Given the description of an element on the screen output the (x, y) to click on. 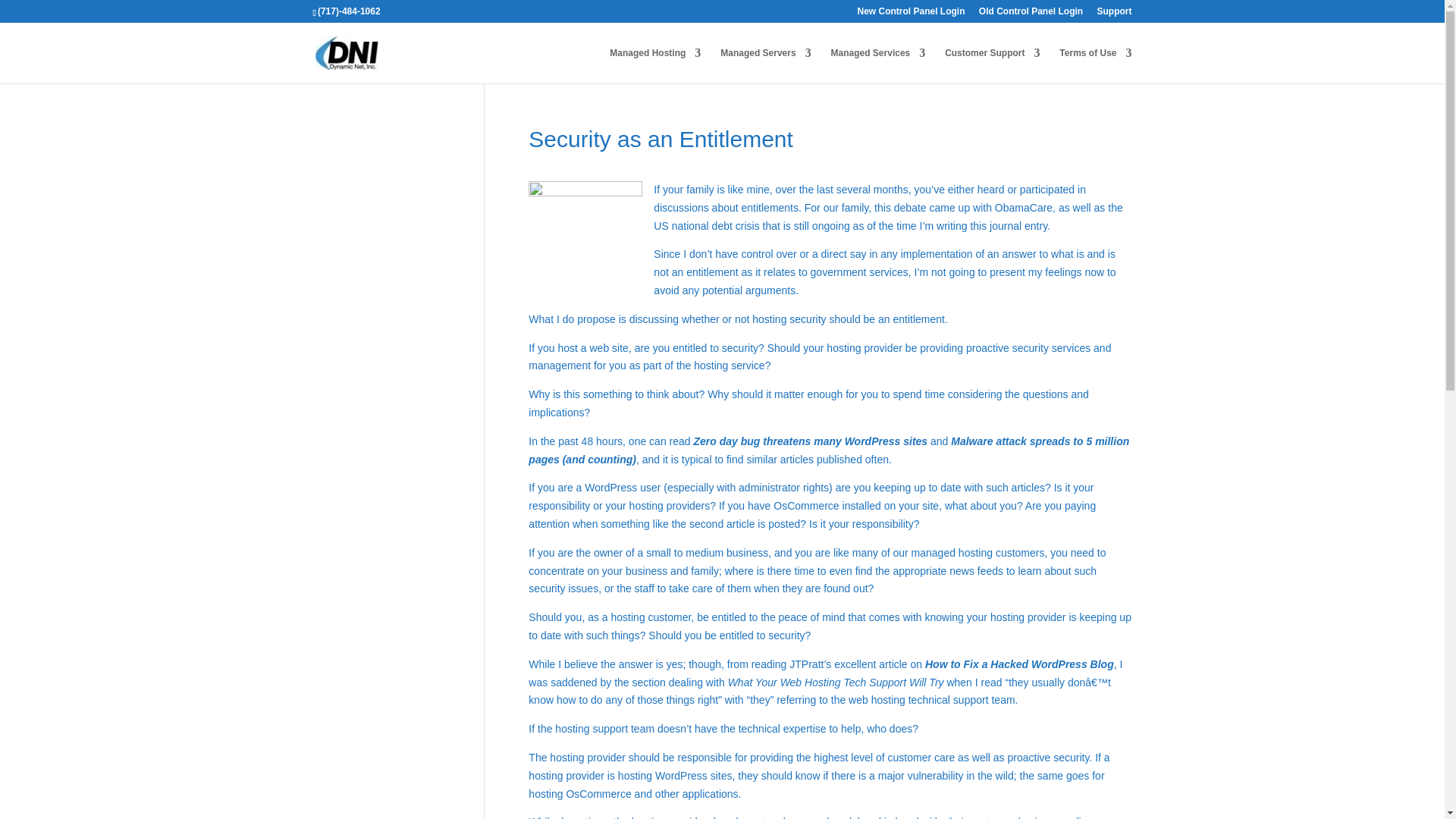
Managed Servers (765, 65)
Customer Support (991, 65)
Managed Services (878, 65)
New Control Panel Login (910, 14)
binary-code-matrix-style2-150x150 (585, 237)
Old Control Panel Login (1030, 14)
Support (1113, 14)
Managed Hosting (655, 65)
How to Fix a Hacked WordPress Blog (1018, 664)
